Given the description of an element on the screen output the (x, y) to click on. 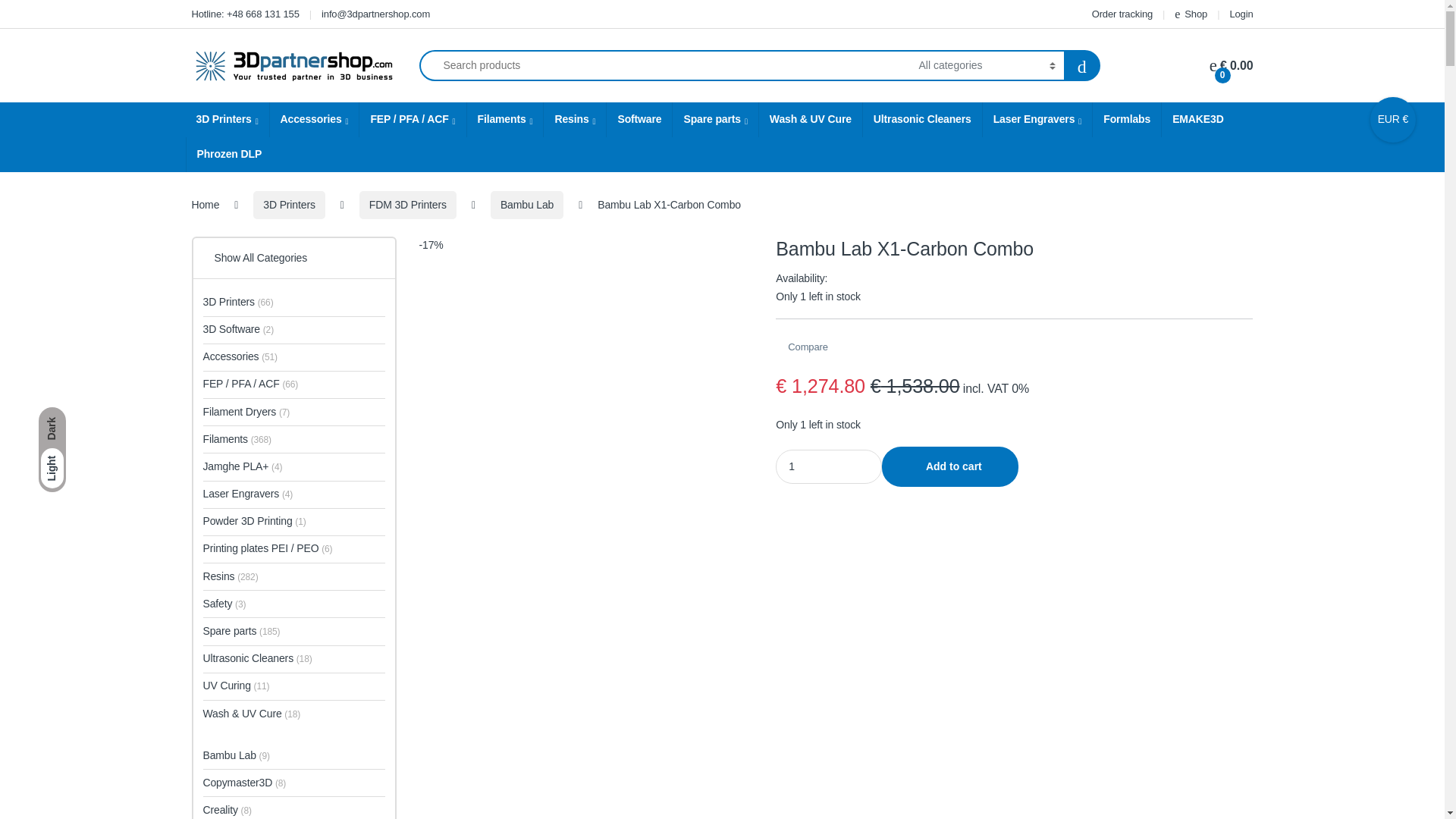
Login (1240, 13)
Shop (1190, 13)
Order tracking (1120, 13)
1 (829, 466)
Order tracking (1120, 13)
Dark (52, 428)
Shop (1190, 13)
Login (1240, 13)
Light (52, 467)
